Given the description of an element on the screen output the (x, y) to click on. 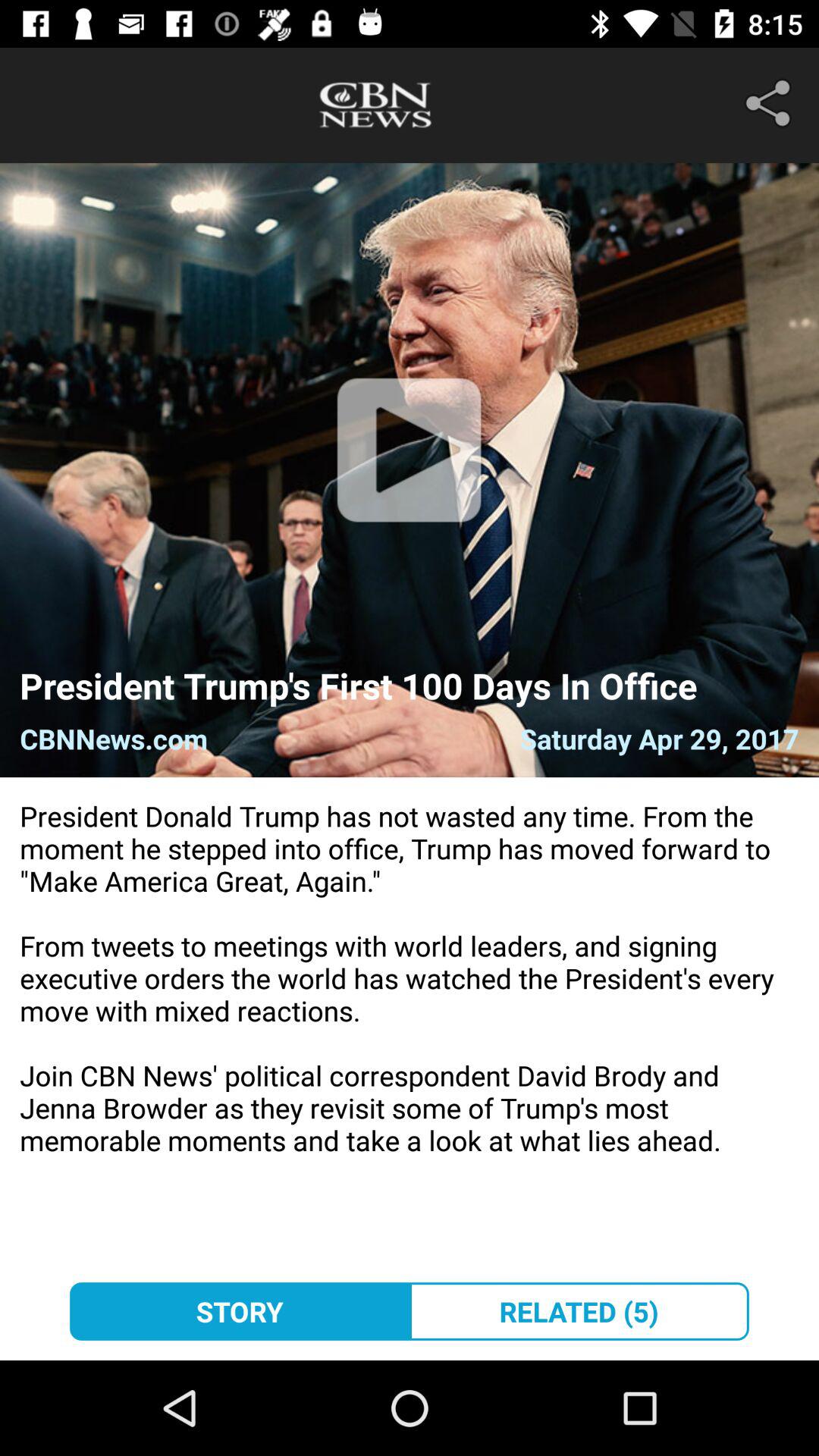
turn off the icon below president donald trump item (239, 1311)
